Given the description of an element on the screen output the (x, y) to click on. 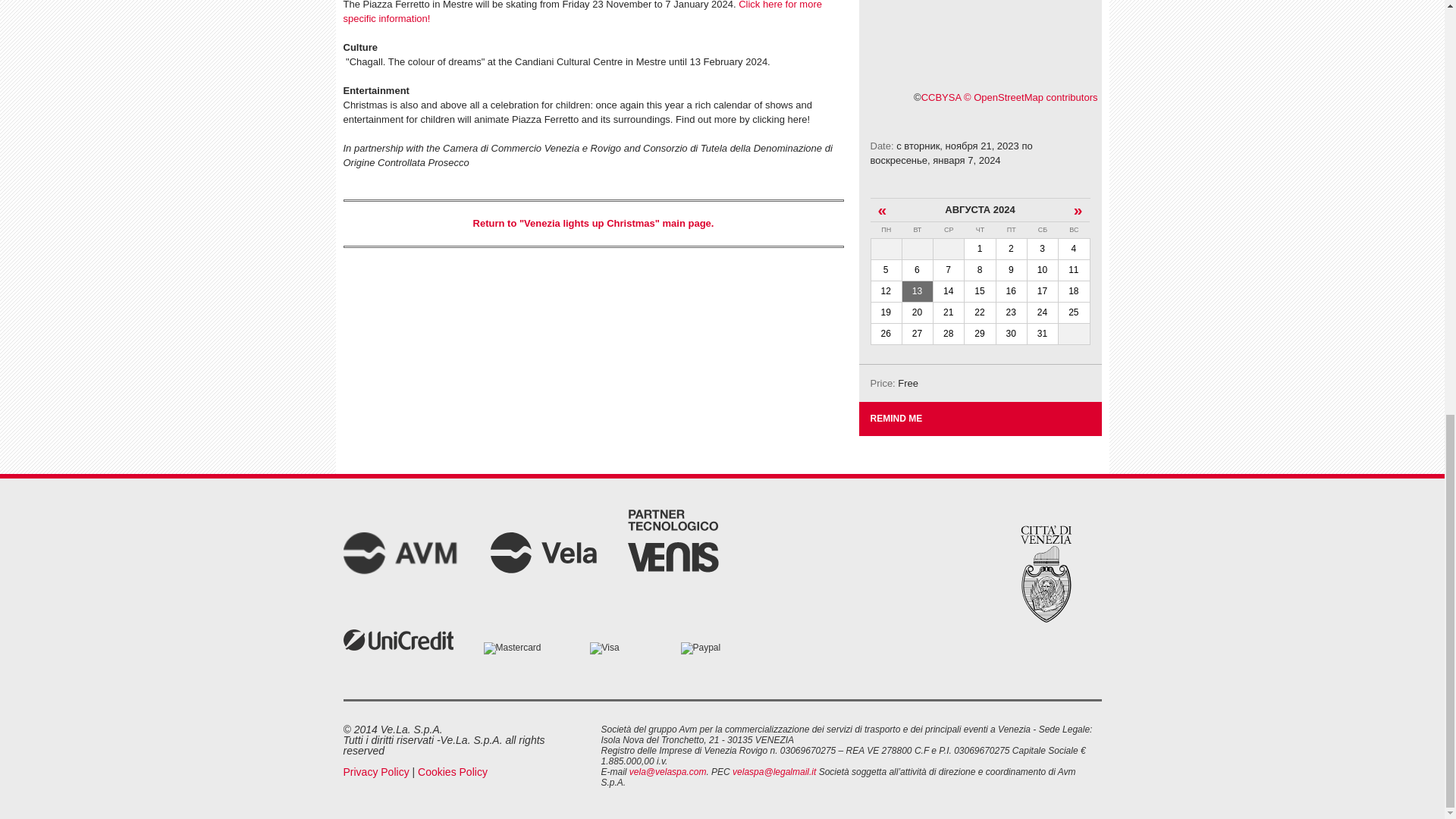
Click here for more specific information! (581, 12)
Return to "Venezia lights up Christmas" main page. (593, 223)
CCBYSA (940, 97)
